Given the description of an element on the screen output the (x, y) to click on. 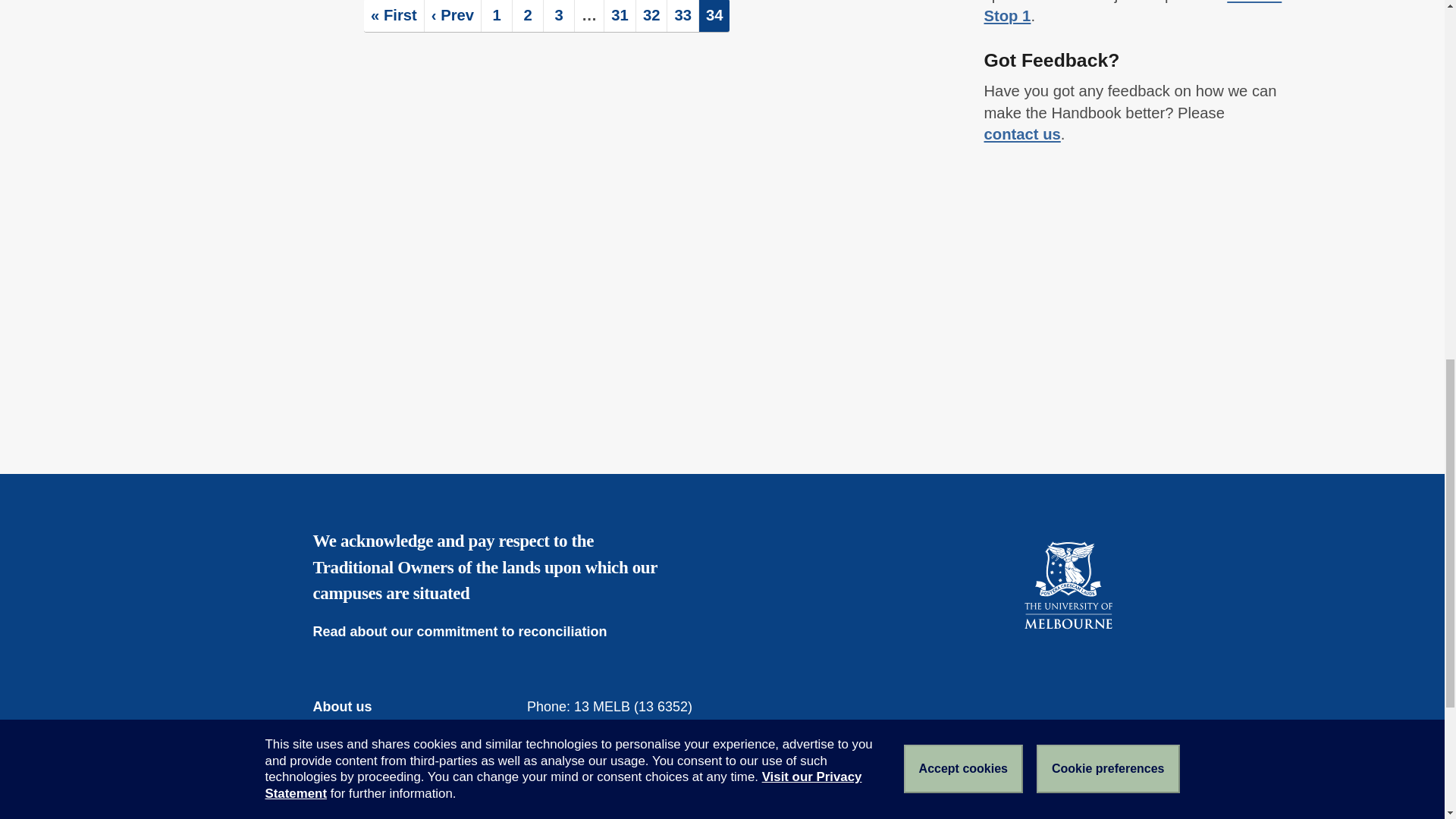
contact Stop 1 (1133, 12)
Safety and respect (384, 788)
33 (682, 15)
Careers at Melbourne (393, 747)
32 (651, 15)
31 (619, 15)
Read about our commitment to reconciliation (470, 631)
1 (496, 15)
2 (527, 15)
About us (353, 706)
3 (558, 15)
contact us (1022, 133)
